Given the description of an element on the screen output the (x, y) to click on. 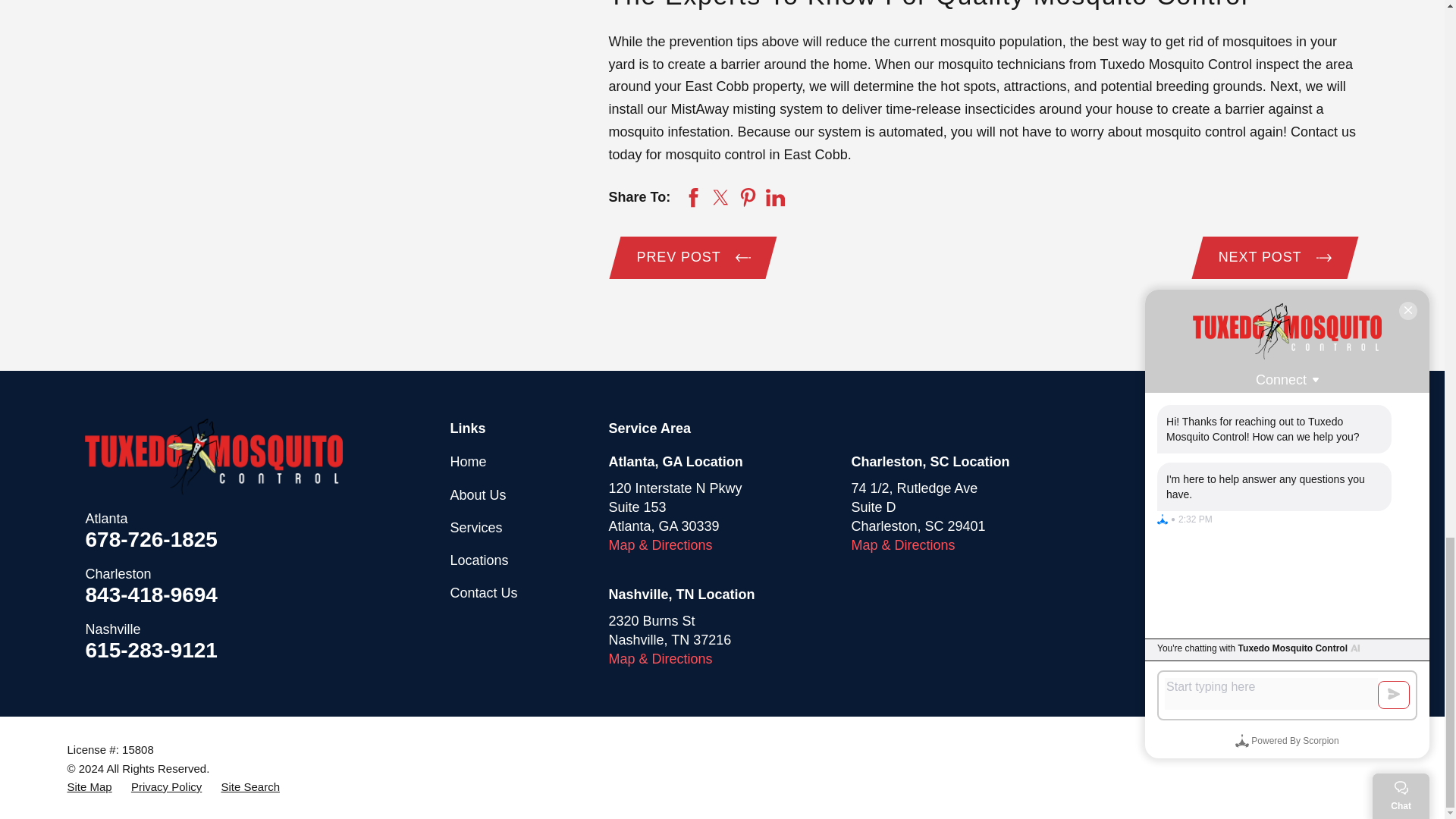
YouTube (1312, 461)
Google Business Profile (1163, 461)
Facebook (1213, 461)
Home (213, 456)
LinkedIn (1262, 461)
